Given the description of an element on the screen output the (x, y) to click on. 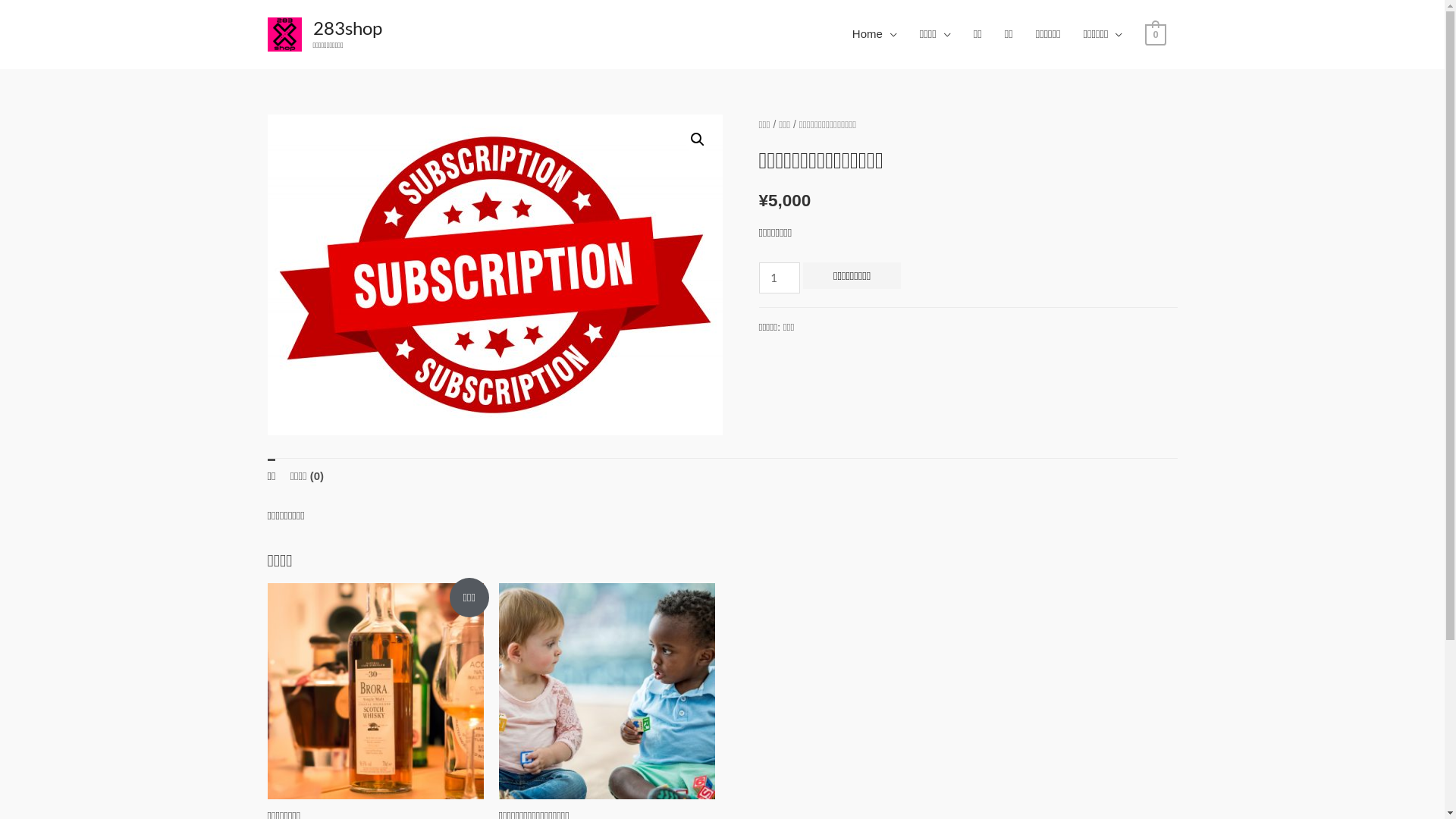
0 Element type: text (1155, 33)
Home Element type: text (874, 33)
283shop Element type: text (346, 27)
